Given the description of an element on the screen output the (x, y) to click on. 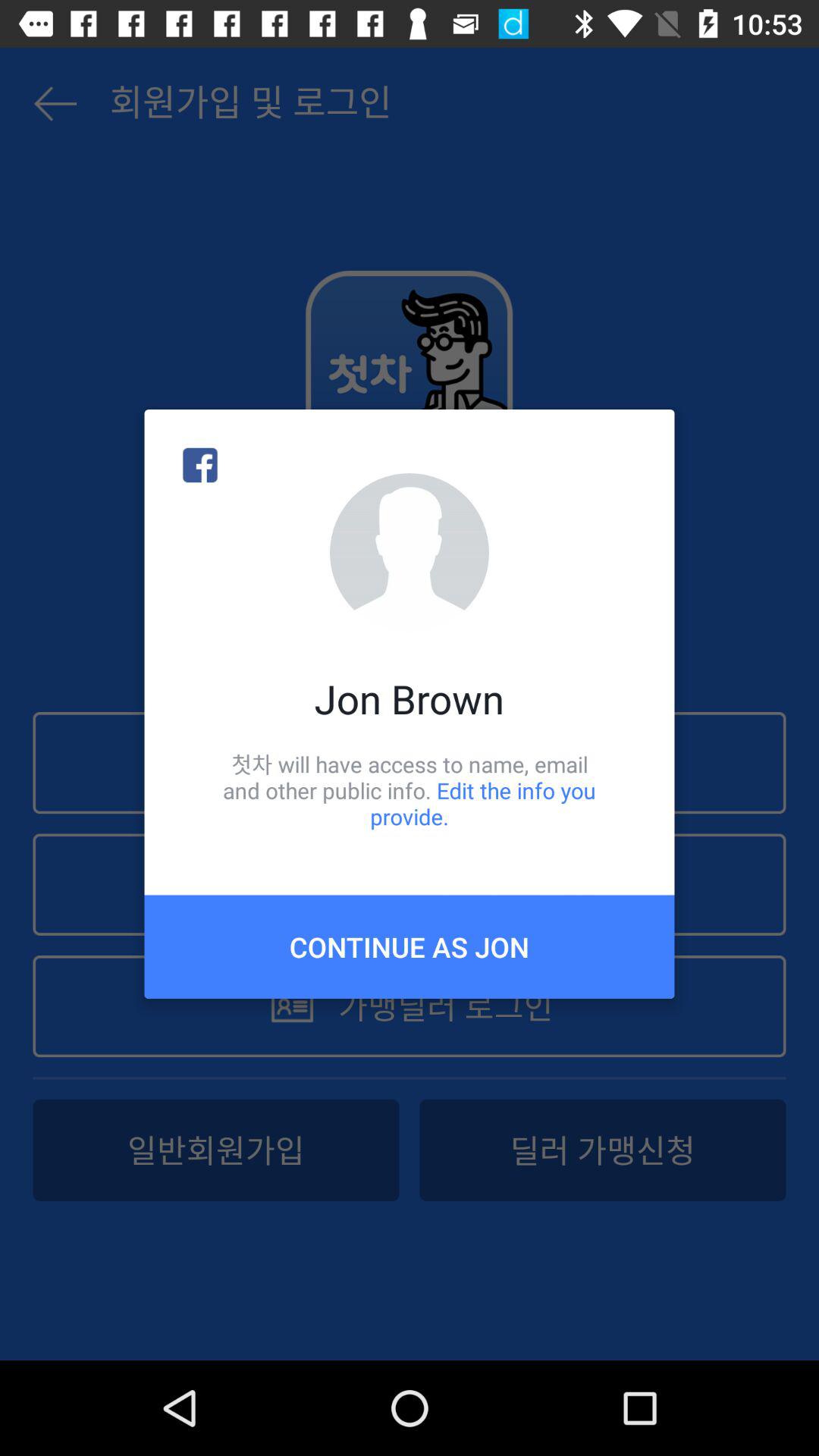
open the continue as jon icon (409, 946)
